Given the description of an element on the screen output the (x, y) to click on. 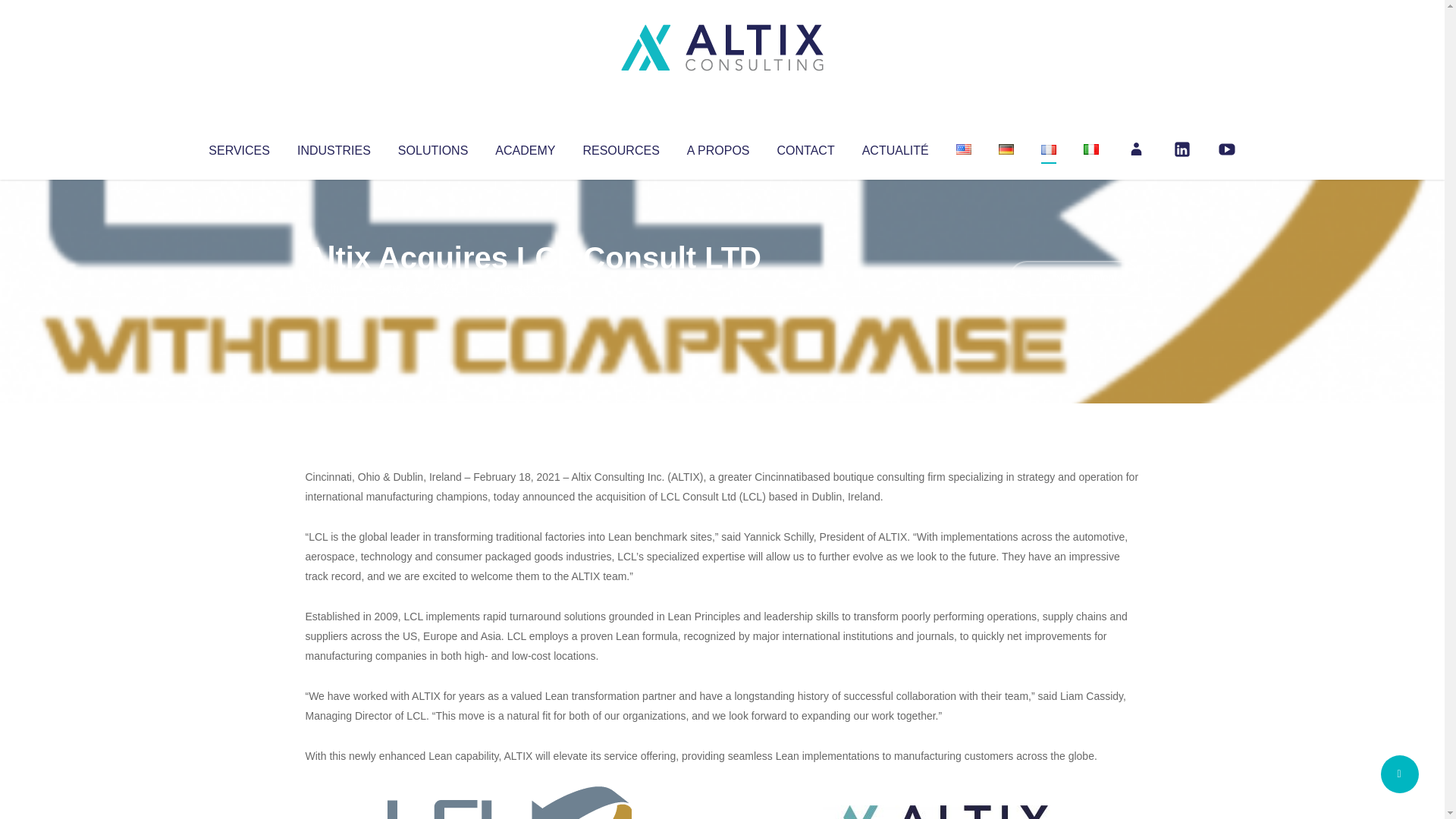
INDUSTRIES (334, 146)
RESOURCES (620, 146)
Articles par Altix (333, 287)
A PROPOS (718, 146)
No Comments (1073, 278)
ACADEMY (524, 146)
Uncategorized (530, 287)
SERVICES (238, 146)
Altix (333, 287)
SOLUTIONS (432, 146)
